Given the description of an element on the screen output the (x, y) to click on. 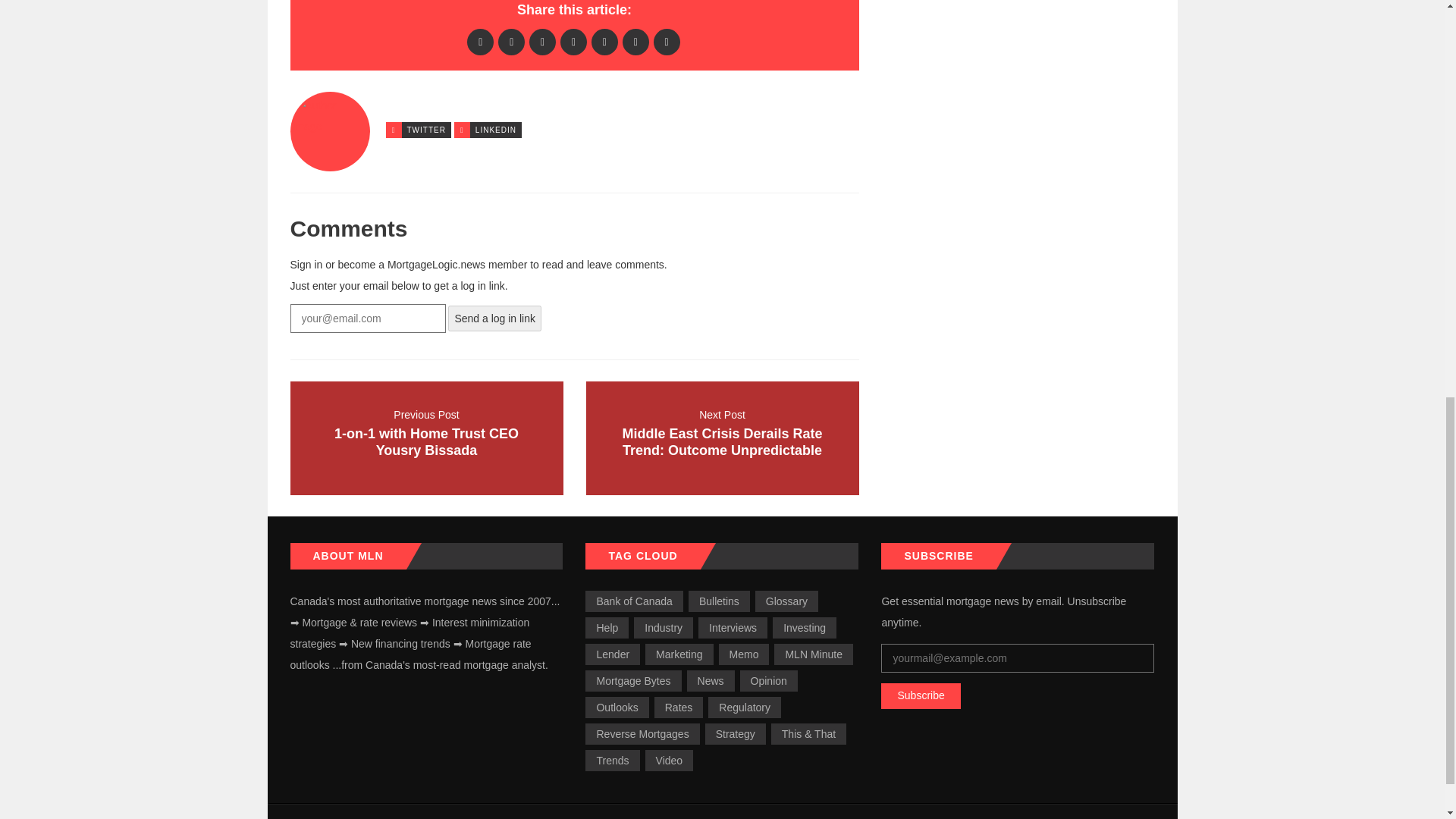
StumbleUpon (666, 41)
Digg (542, 41)
Bank of Canada (633, 600)
Twitter (510, 41)
Send a log in link (494, 318)
Reddit (573, 41)
Linkedin (425, 438)
Facebook (604, 41)
